Given the description of an element on the screen output the (x, y) to click on. 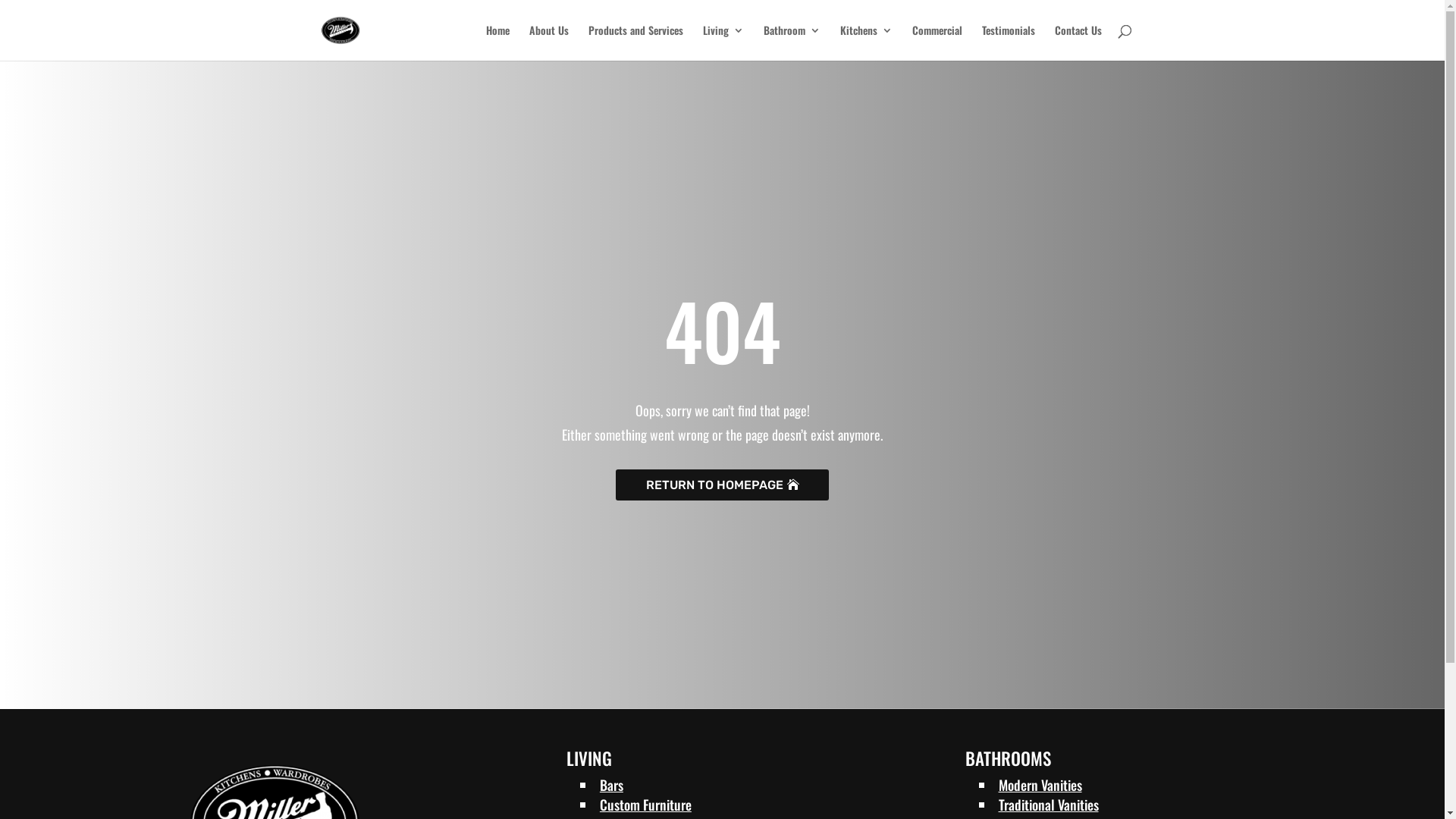
Living Element type: text (722, 42)
Bars Element type: text (611, 784)
Kitchens Element type: text (866, 42)
Products and Services Element type: text (635, 42)
Home Element type: text (496, 42)
Testimonials Element type: text (1007, 42)
About Us Element type: text (548, 42)
Bathroom Element type: text (790, 42)
Modern Vanities Element type: text (1039, 784)
Custom Furniture Element type: text (645, 804)
RETURN TO HOMEPAGE Element type: text (721, 484)
Contact Us Element type: text (1077, 42)
Commercial Element type: text (936, 42)
Traditional Vanities Element type: text (1047, 804)
